Given the description of an element on the screen output the (x, y) to click on. 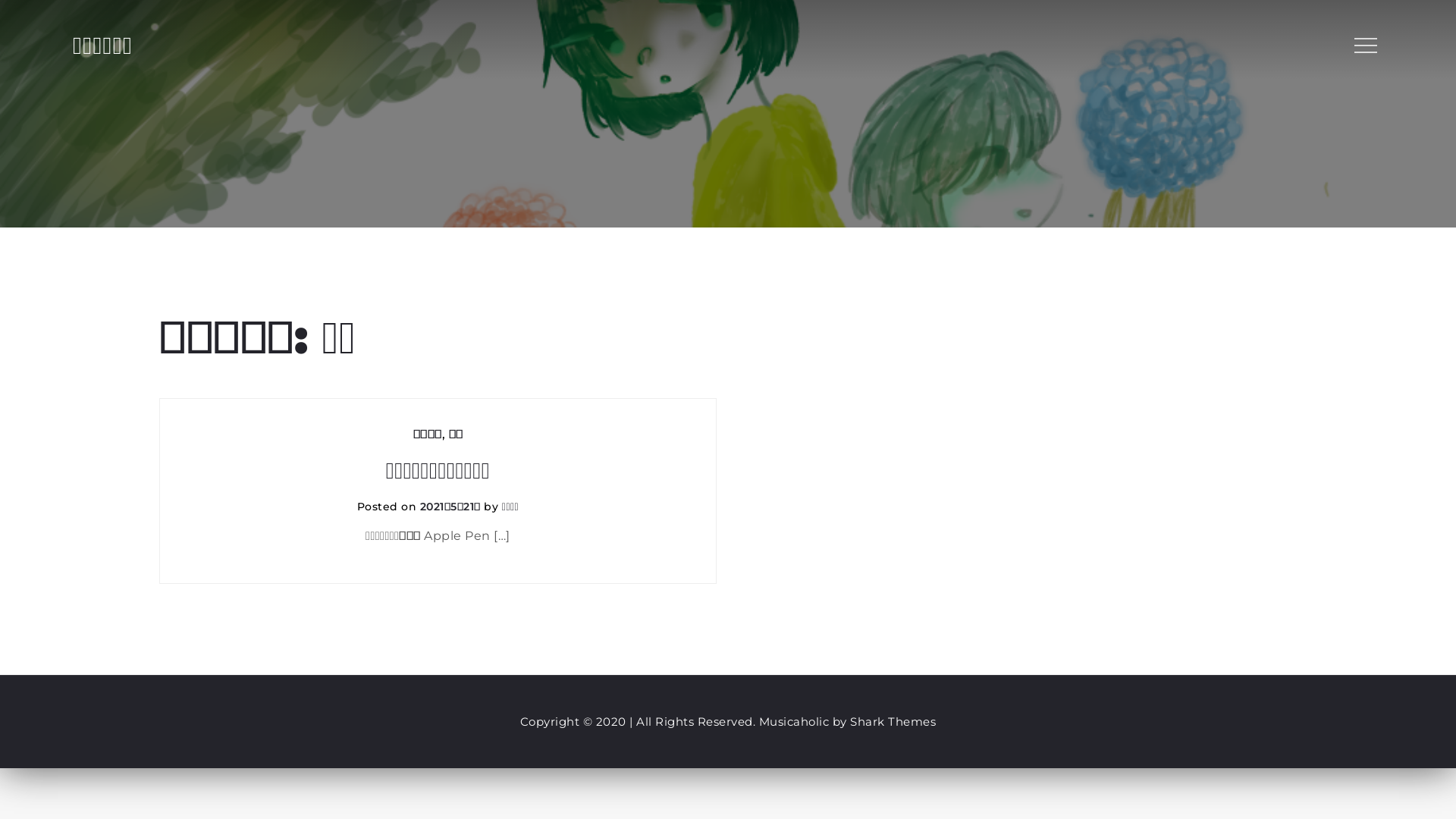
Shark Themes Element type: text (892, 721)
Menu Element type: text (1364, 45)
